Given the description of an element on the screen output the (x, y) to click on. 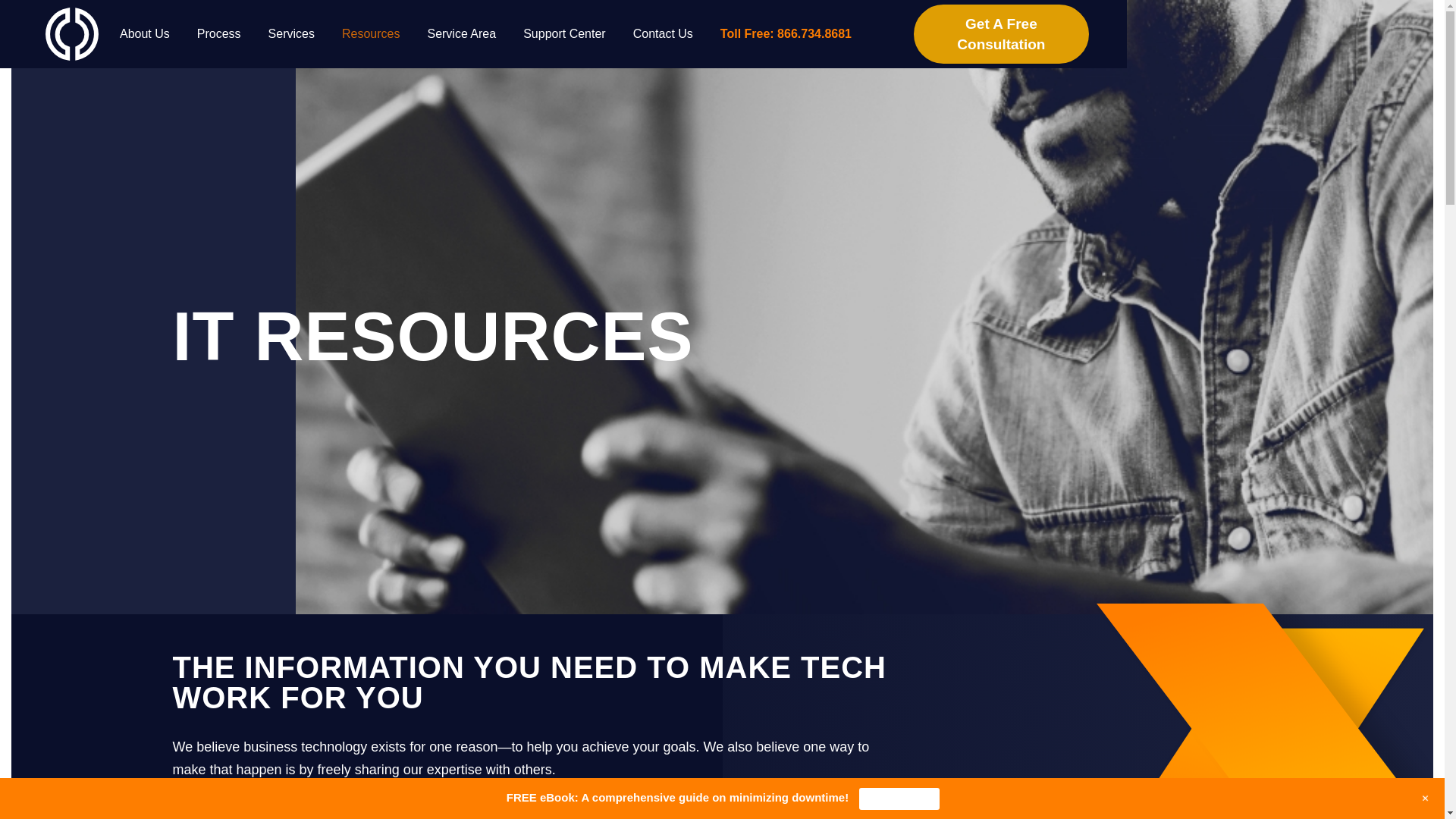
Services (291, 33)
Process (218, 33)
About Us (144, 33)
